Given the description of an element on the screen output the (x, y) to click on. 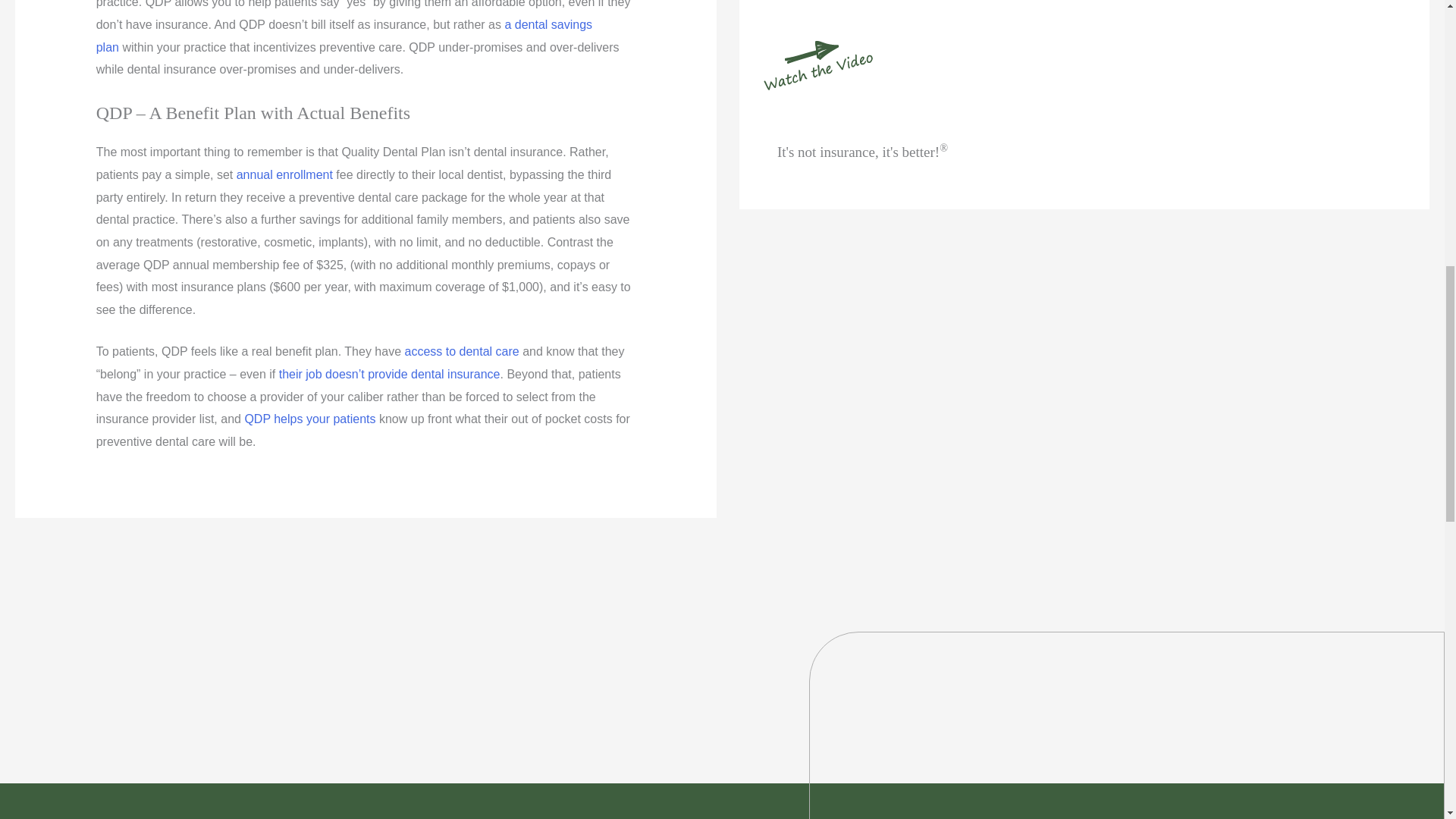
QDP helps your patients (309, 418)
access to dental care (461, 350)
annual enrollment (284, 174)
a dental savings plan (344, 36)
